Given the description of an element on the screen output the (x, y) to click on. 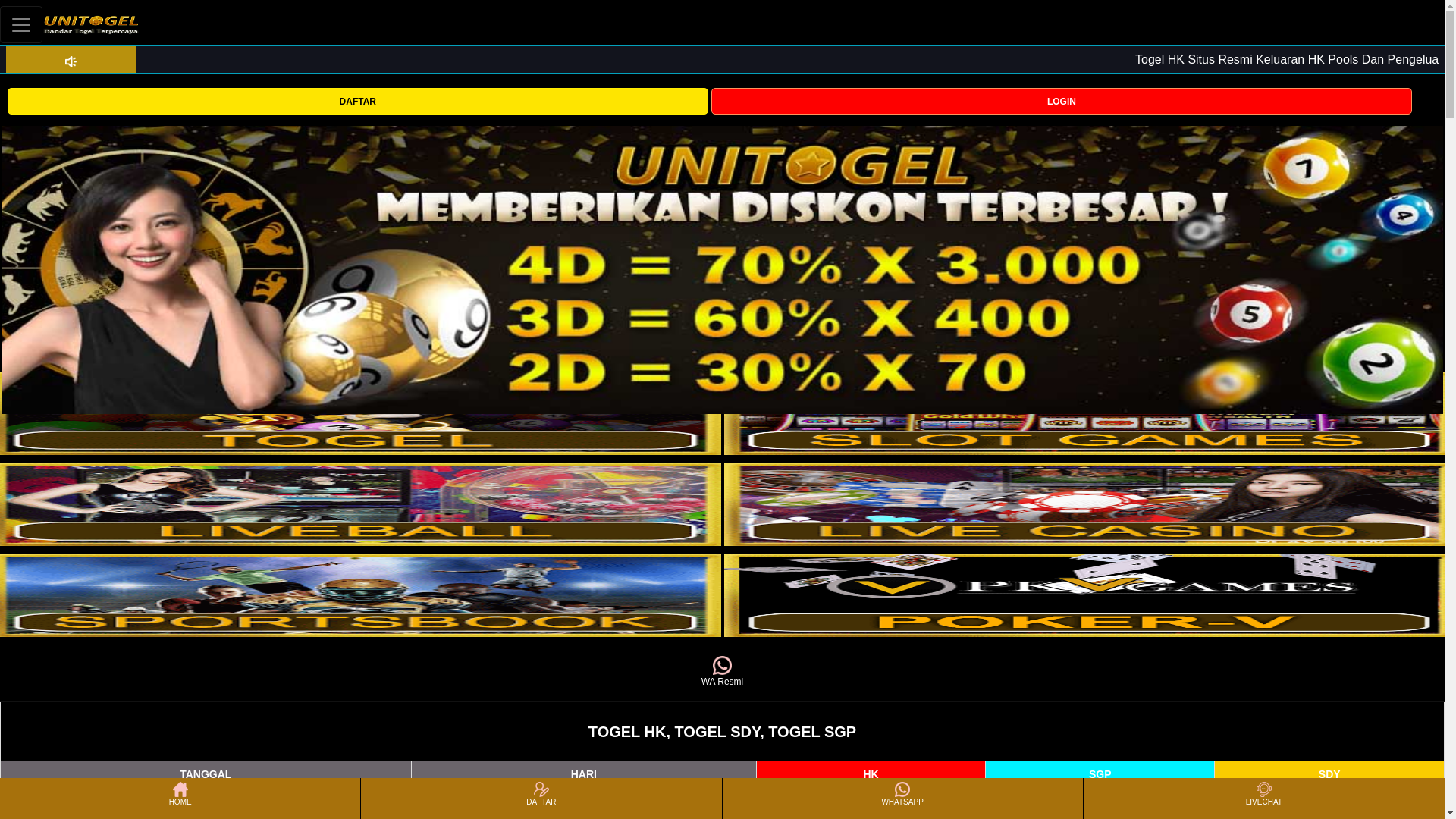
HOME (179, 798)
DAFTAR (357, 100)
LOGIN (1061, 100)
LIVECHAT (1263, 798)
LOGIN (1061, 100)
DAFTAR (540, 798)
WHATSAPP (901, 798)
DAFTAR (357, 100)
WA Resmi (722, 672)
